Given the description of an element on the screen output the (x, y) to click on. 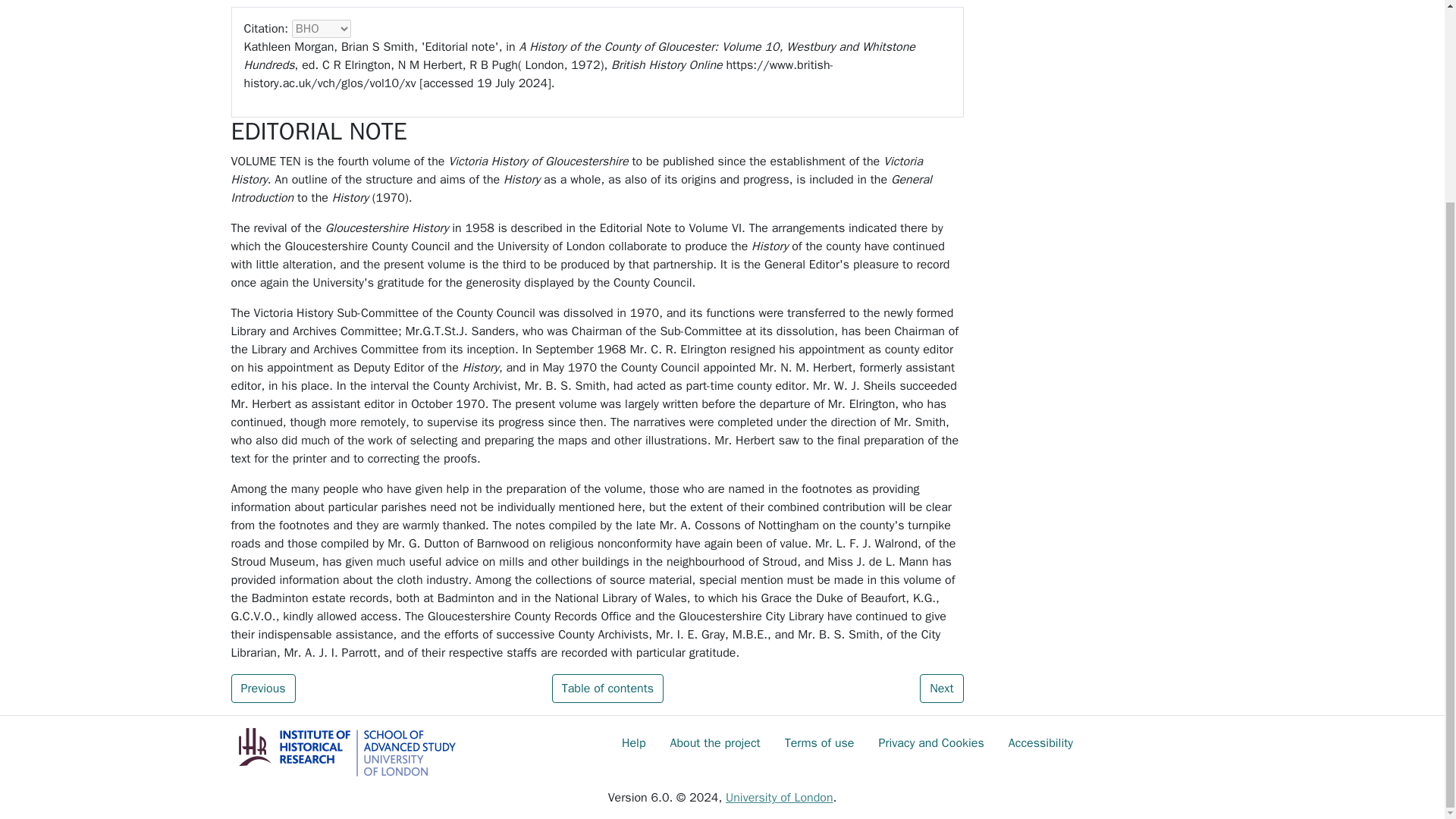
Previous (262, 688)
University of London (778, 797)
Help (634, 743)
Accessibility (1039, 743)
Next (941, 688)
Terms of use (819, 743)
About the project (715, 743)
Privacy and Cookies (930, 743)
Table of contents (607, 688)
